Given the description of an element on the screen output the (x, y) to click on. 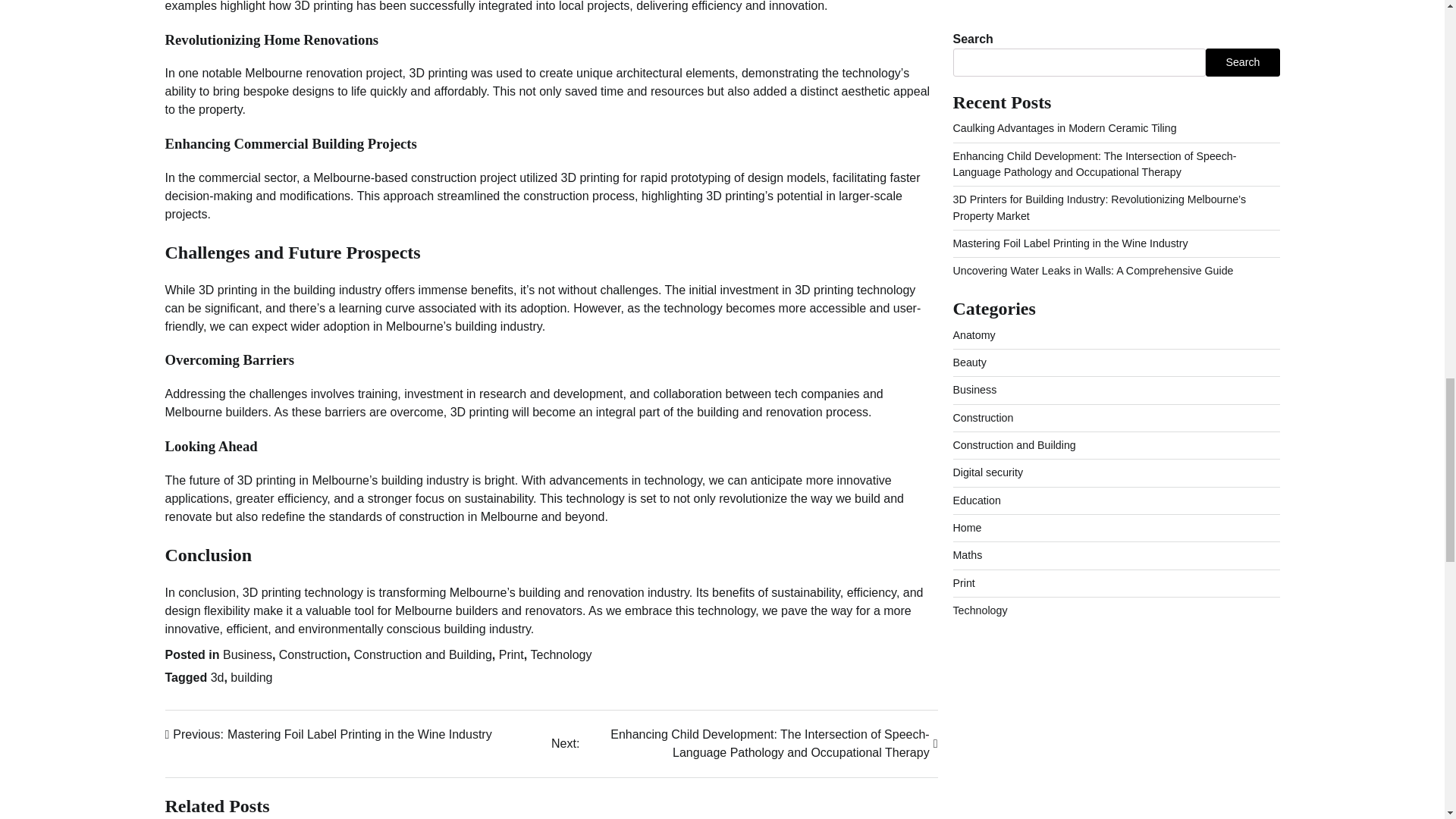
Print (511, 653)
Construction and Building (328, 733)
Technology (422, 653)
building (561, 653)
3d (251, 676)
Business (217, 676)
Construction (247, 653)
